Given the description of an element on the screen output the (x, y) to click on. 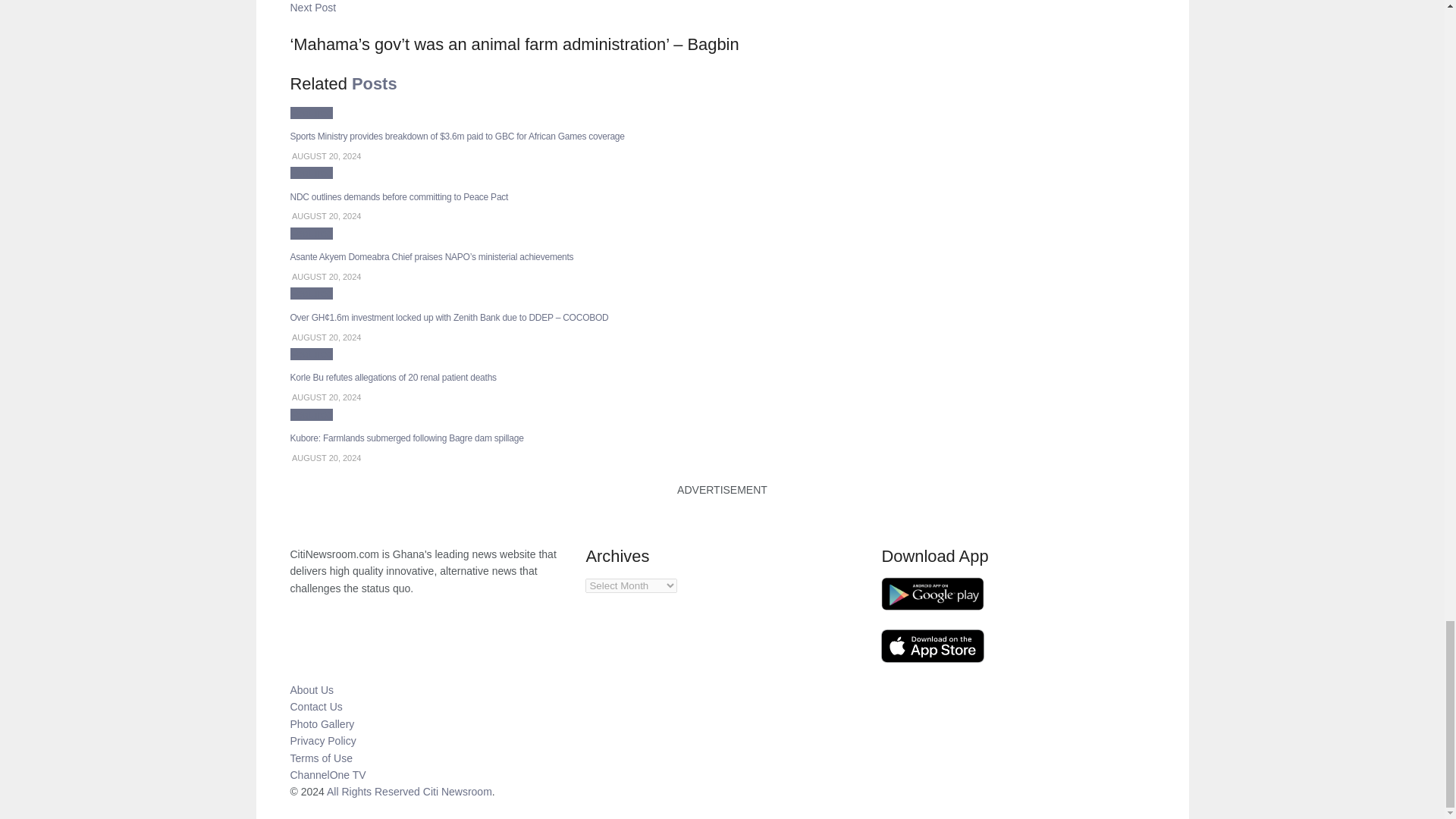
App Store (932, 646)
Citi Newsroom (457, 791)
Citi Newsroom (373, 791)
Google Play (932, 593)
